Given the description of an element on the screen output the (x, y) to click on. 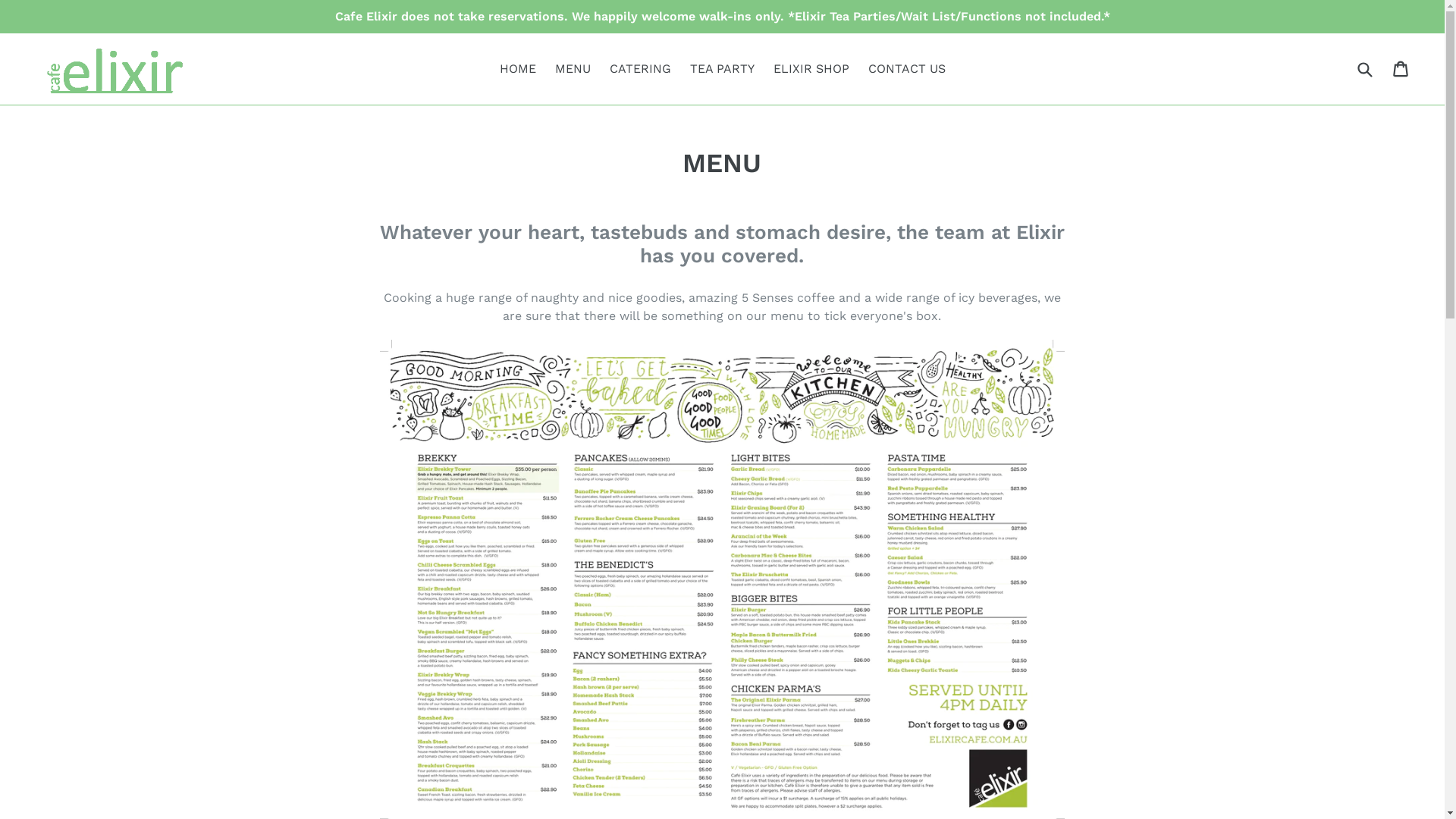
CONTACT US Element type: text (905, 68)
MENU Element type: text (572, 68)
Cart
Cart Element type: text (1401, 68)
Submit Element type: text (1363, 68)
TEA PARTY Element type: text (722, 68)
HOME Element type: text (516, 68)
ELIXIR SHOP Element type: text (810, 68)
CATERING Element type: text (640, 68)
